Given the description of an element on the screen output the (x, y) to click on. 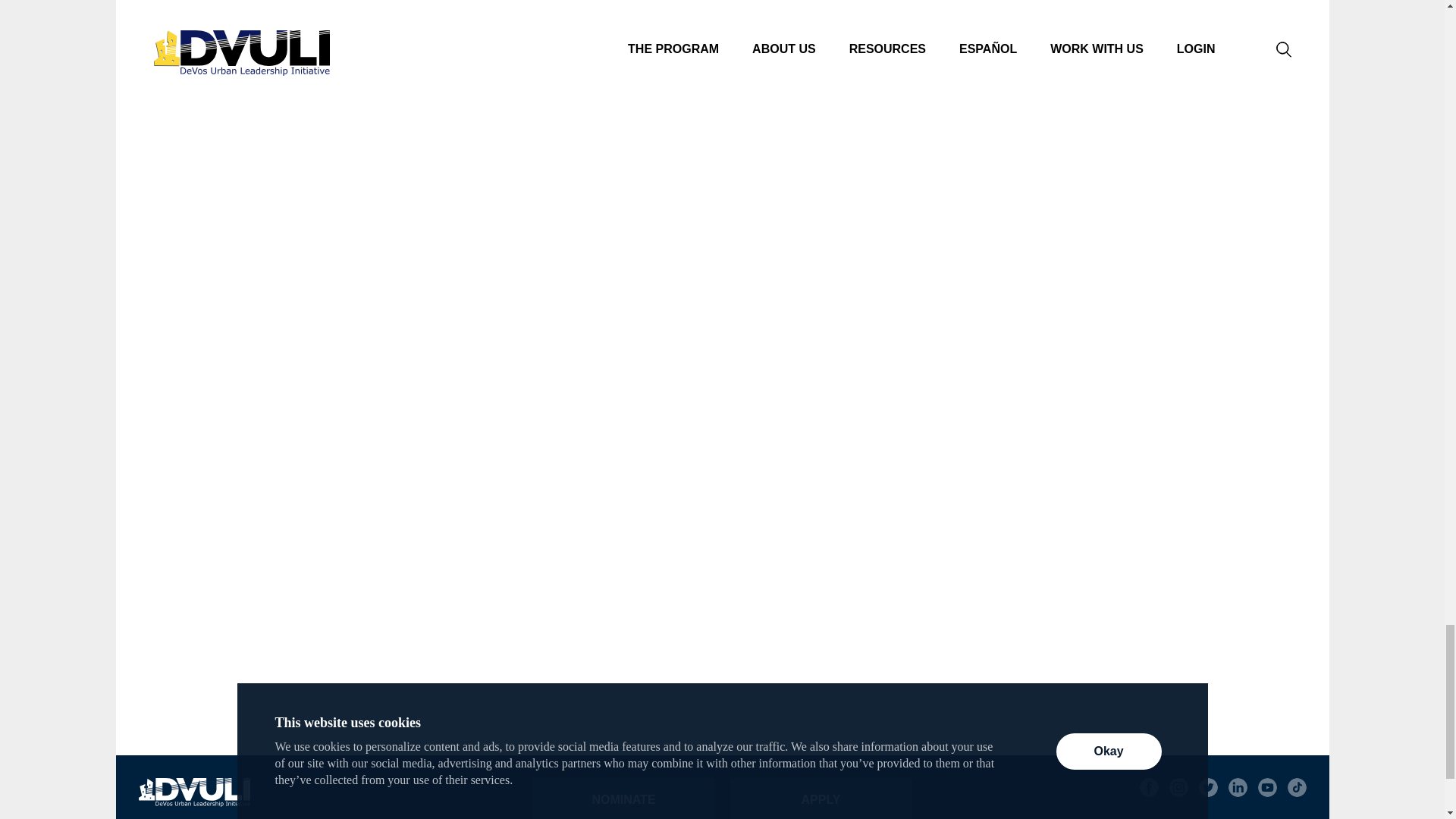
APPLY (820, 798)
NOMINATE (623, 798)
